Given the description of an element on the screen output the (x, y) to click on. 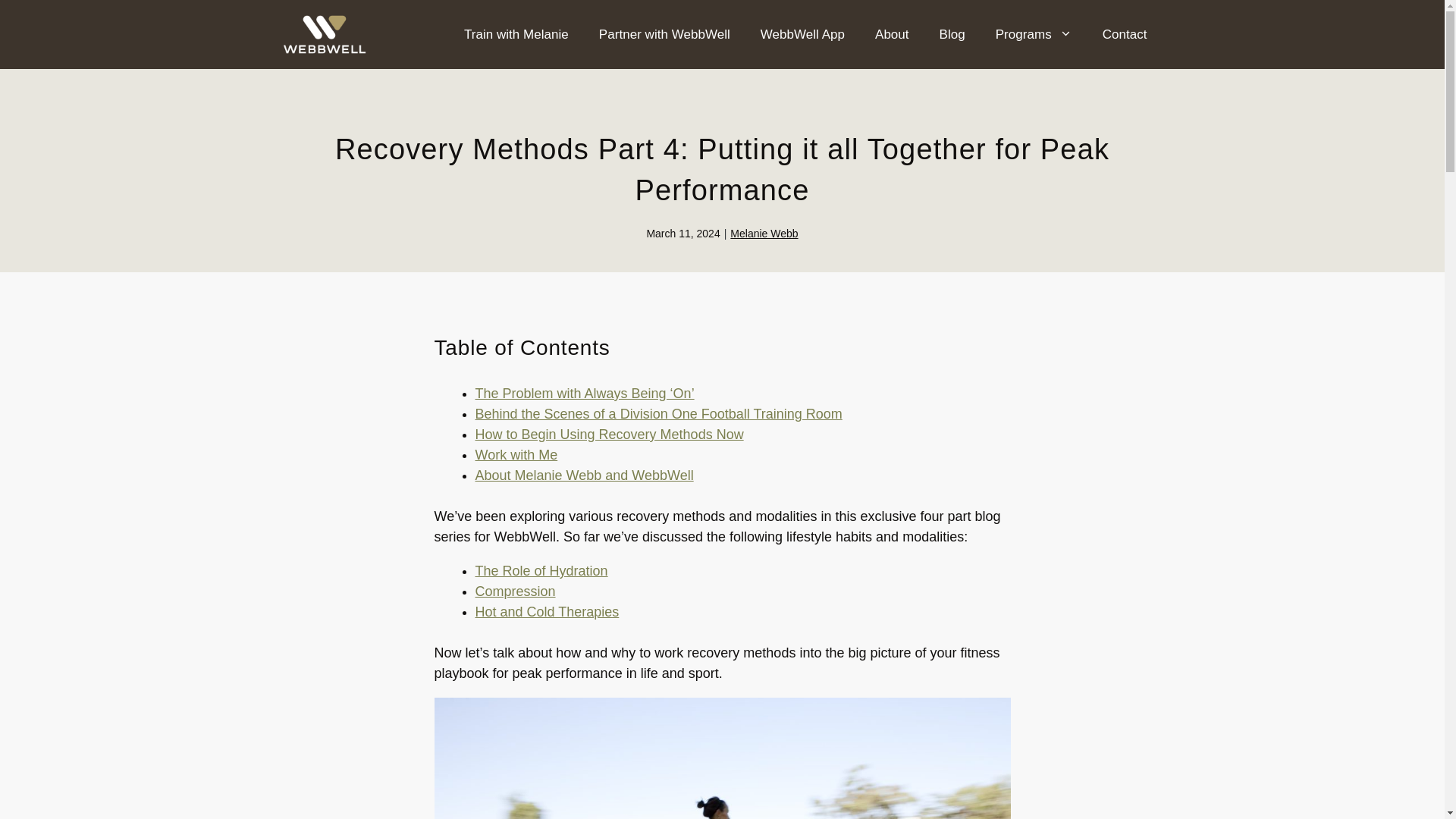
Train with Melanie (515, 34)
Compression (514, 590)
Hot and Cold Therapies (546, 611)
The Role of Hydration (540, 570)
WebbWell App (802, 34)
Work with Me (515, 454)
How to Begin Using Recovery Methods Now (608, 434)
Melanie Webb (763, 233)
Behind the Scenes of a Division One Football Training Room (657, 413)
Contact (1124, 34)
